Given the description of an element on the screen output the (x, y) to click on. 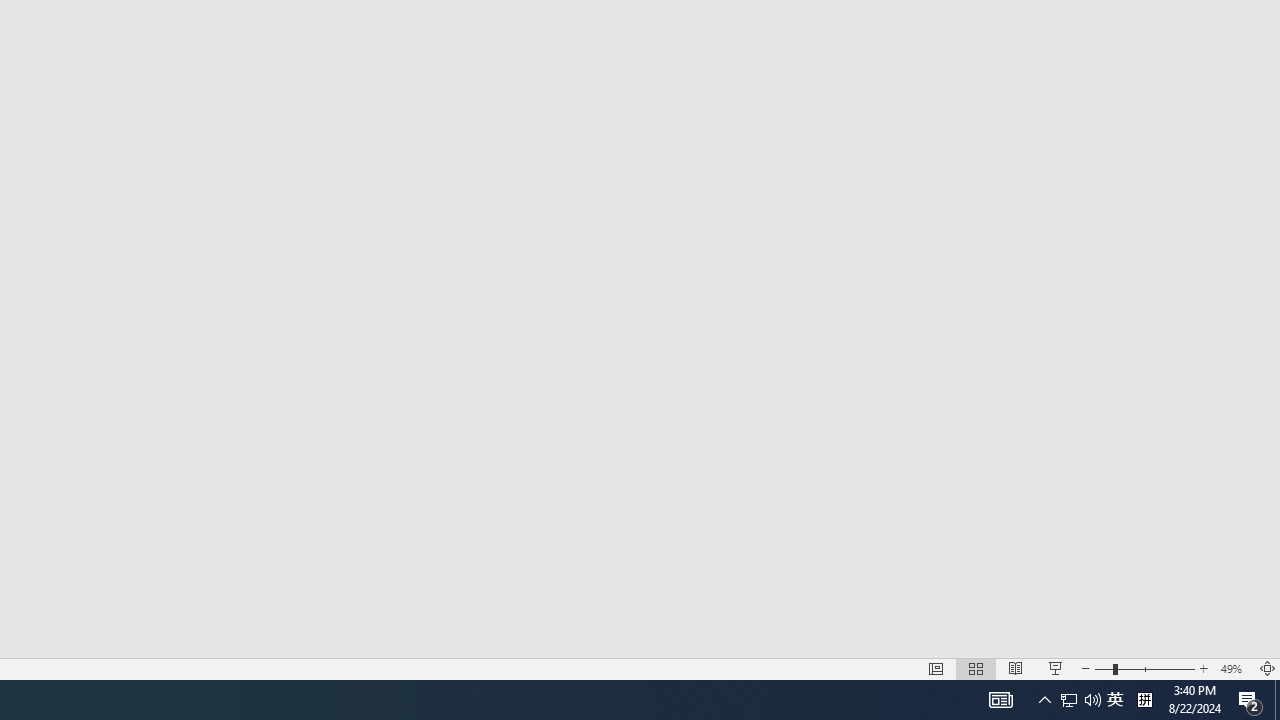
Zoom 49% (1234, 668)
